Given the description of an element on the screen output the (x, y) to click on. 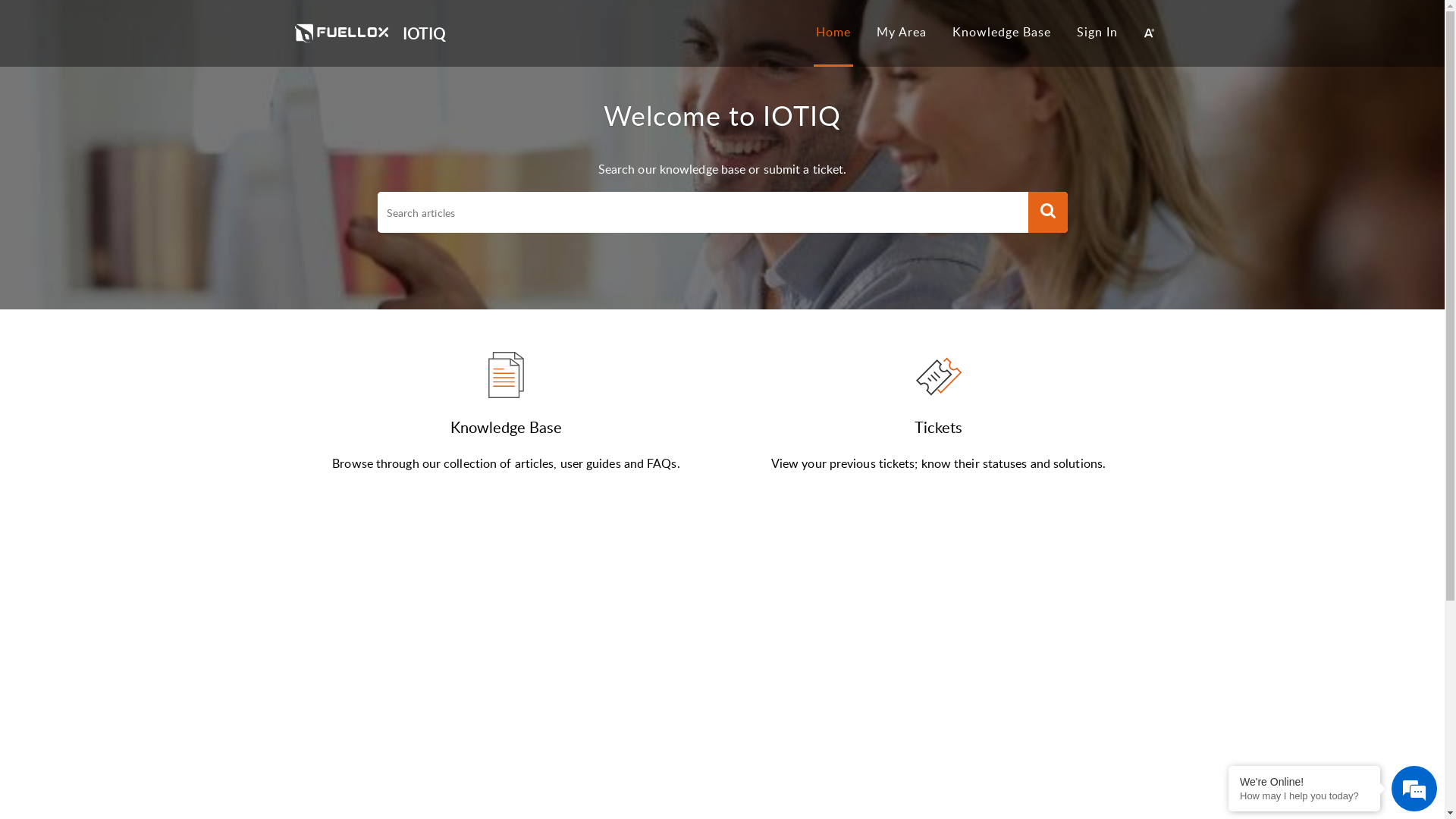
My Area Element type: text (901, 31)
Knowledge Base Element type: text (1001, 31)
Home Element type: text (832, 31)
Search Element type: hover (1047, 211)
Knowledge Base Element type: text (505, 426)
Tickets Element type: text (938, 426)
Sign In Element type: text (1096, 31)
